Given the description of an element on the screen output the (x, y) to click on. 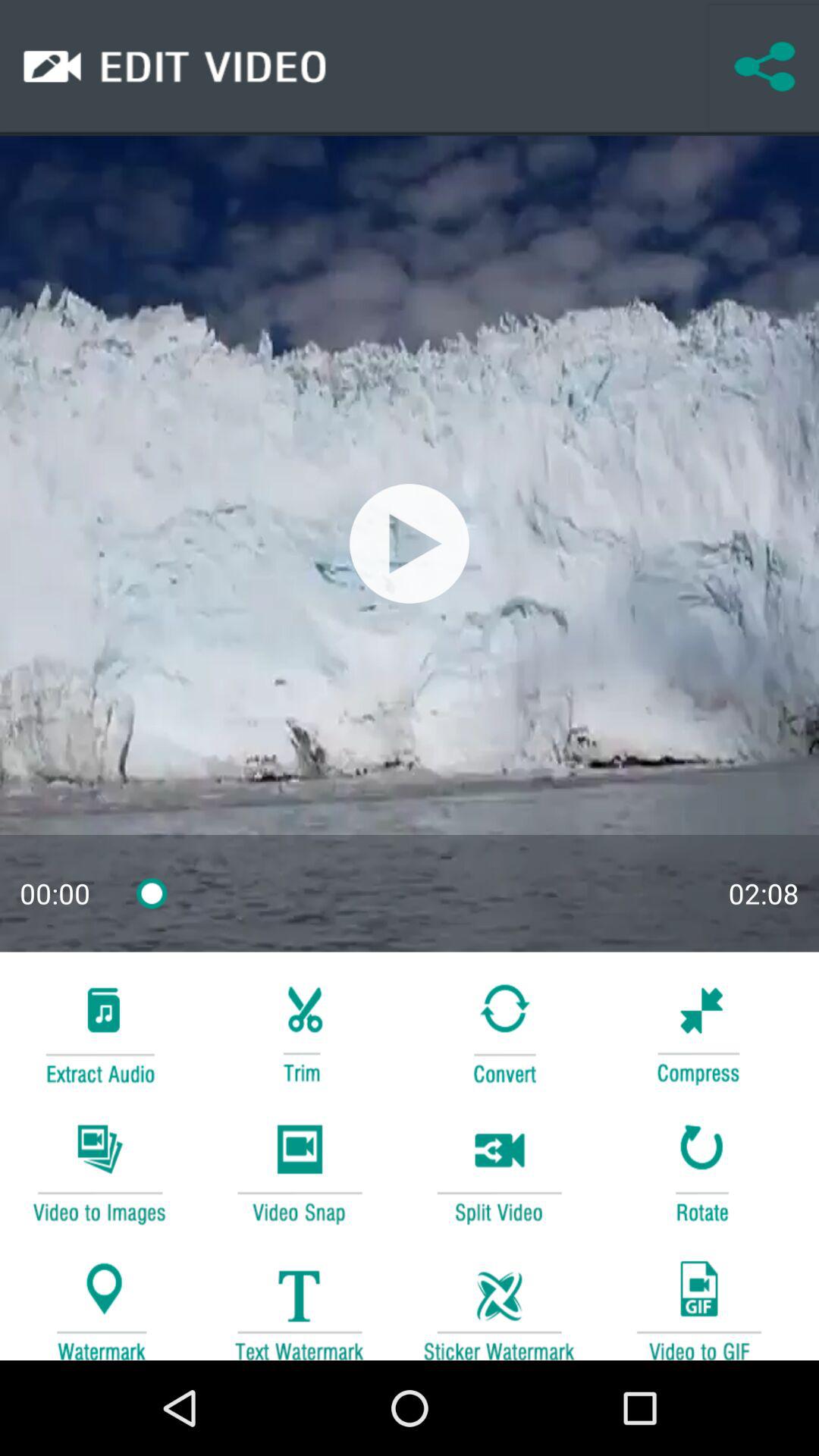
icon page (698, 1032)
